Given the description of an element on the screen output the (x, y) to click on. 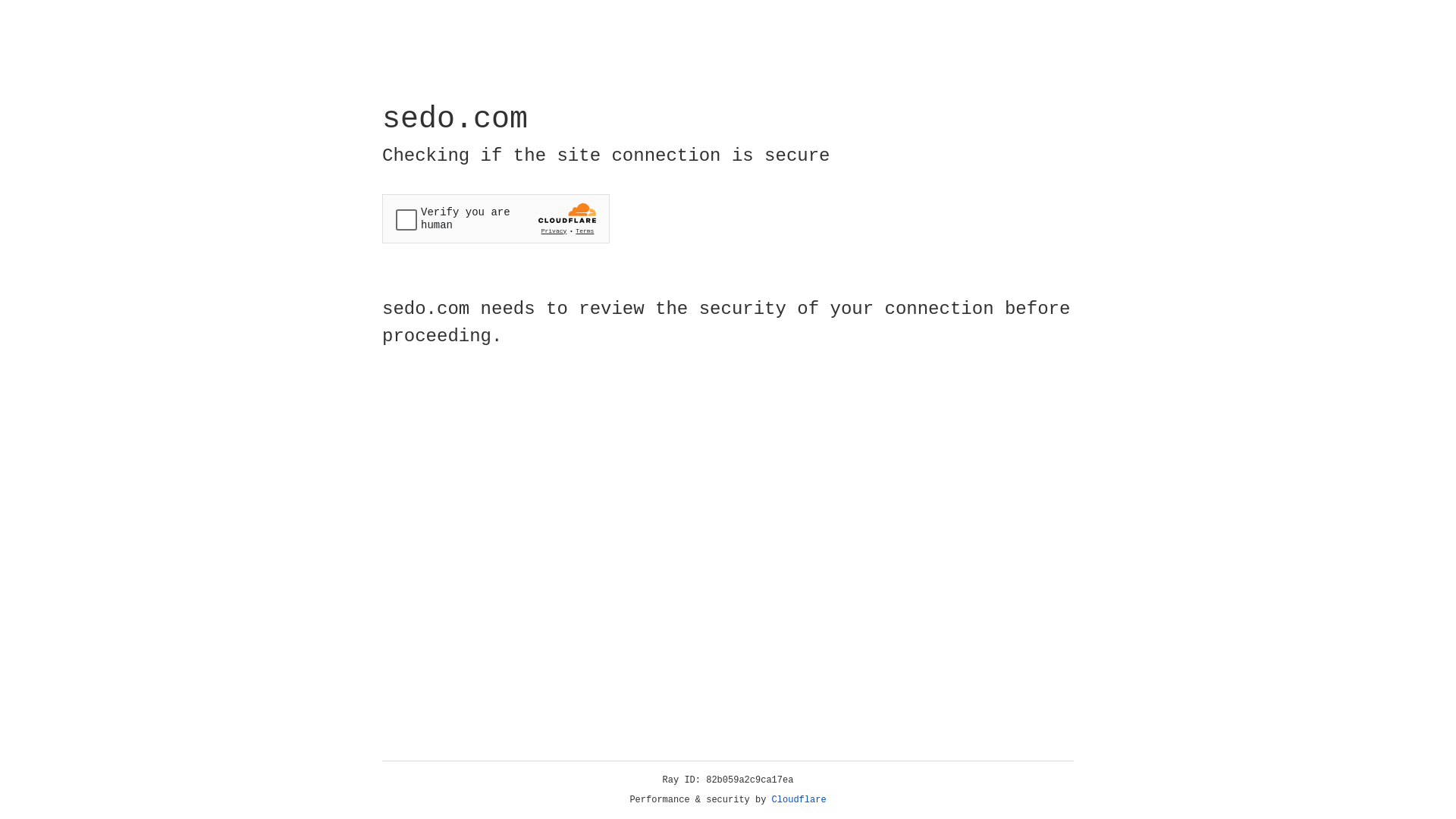
Widget containing a Cloudflare security challenge Element type: hover (495, 218)
Cloudflare Element type: text (798, 799)
